Given the description of an element on the screen output the (x, y) to click on. 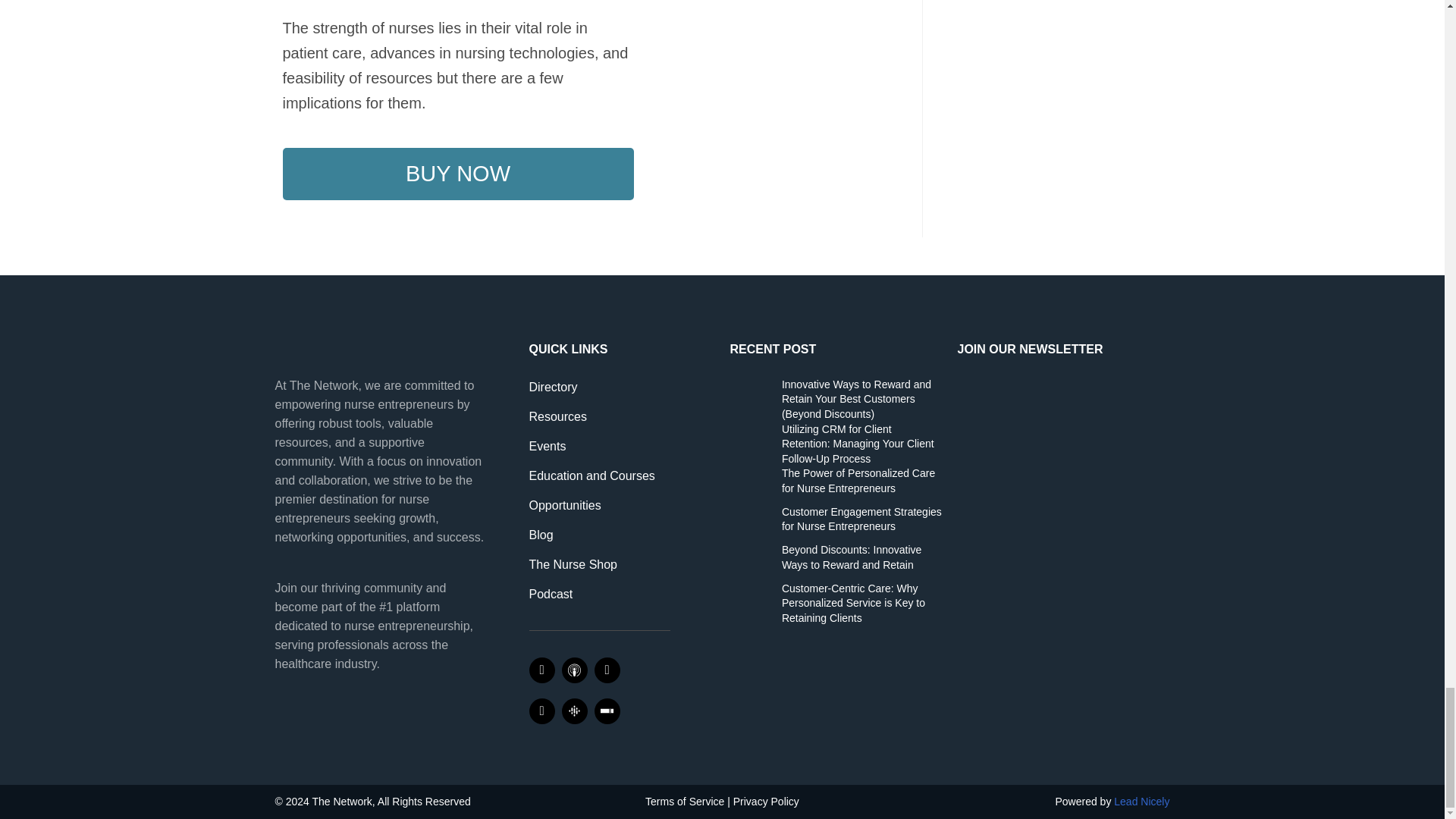
Subscribe Footer (1062, 434)
